Given the description of an element on the screen output the (x, y) to click on. 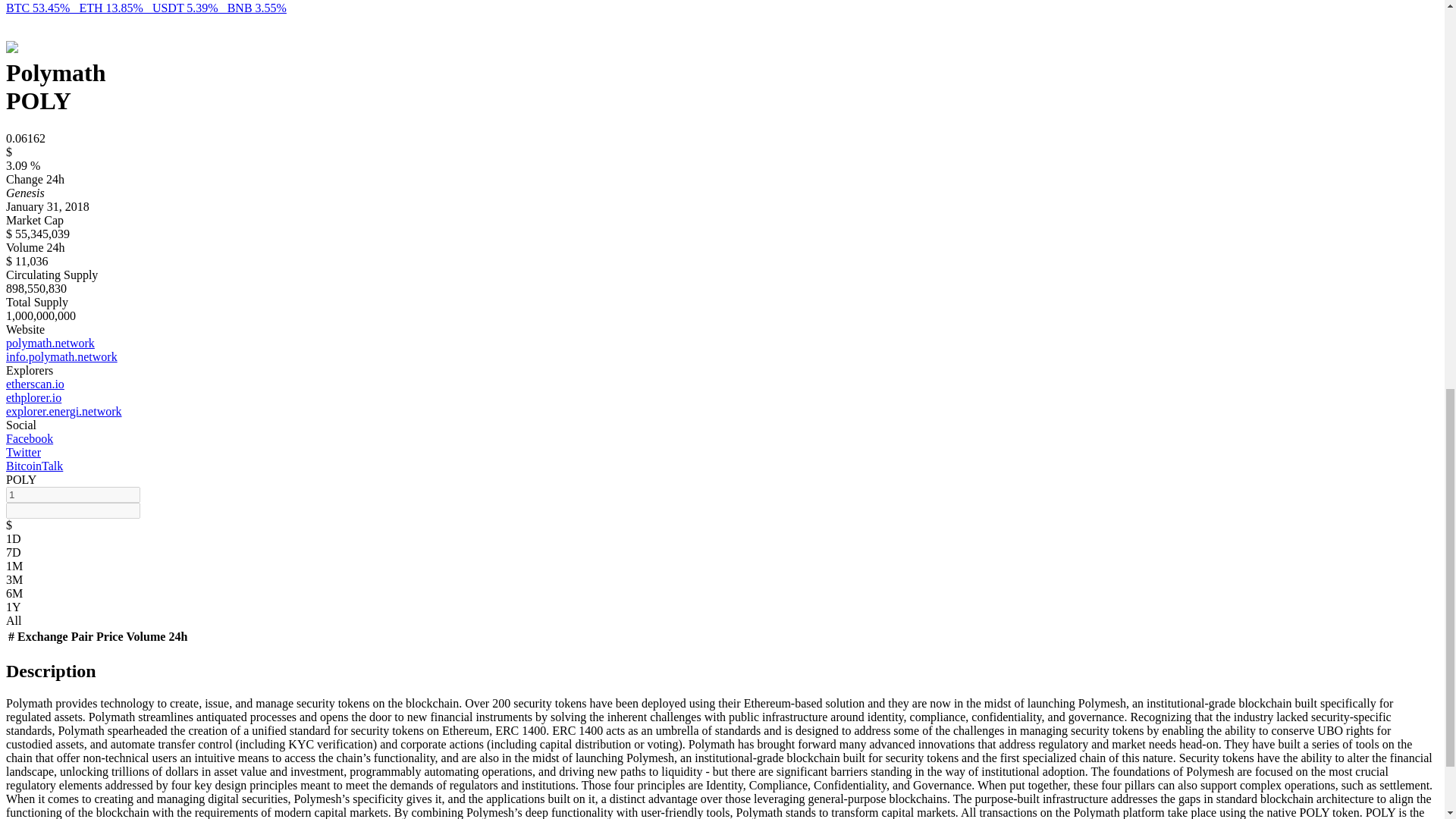
etherscan.io (34, 383)
polymath.network (49, 342)
BitcoinTalk (33, 465)
1 (72, 494)
ethplorer.io (33, 397)
explorer.energi.network (63, 410)
info.polymath.network (61, 356)
Twitter (22, 451)
Facebook (28, 438)
